Given the description of an element on the screen output the (x, y) to click on. 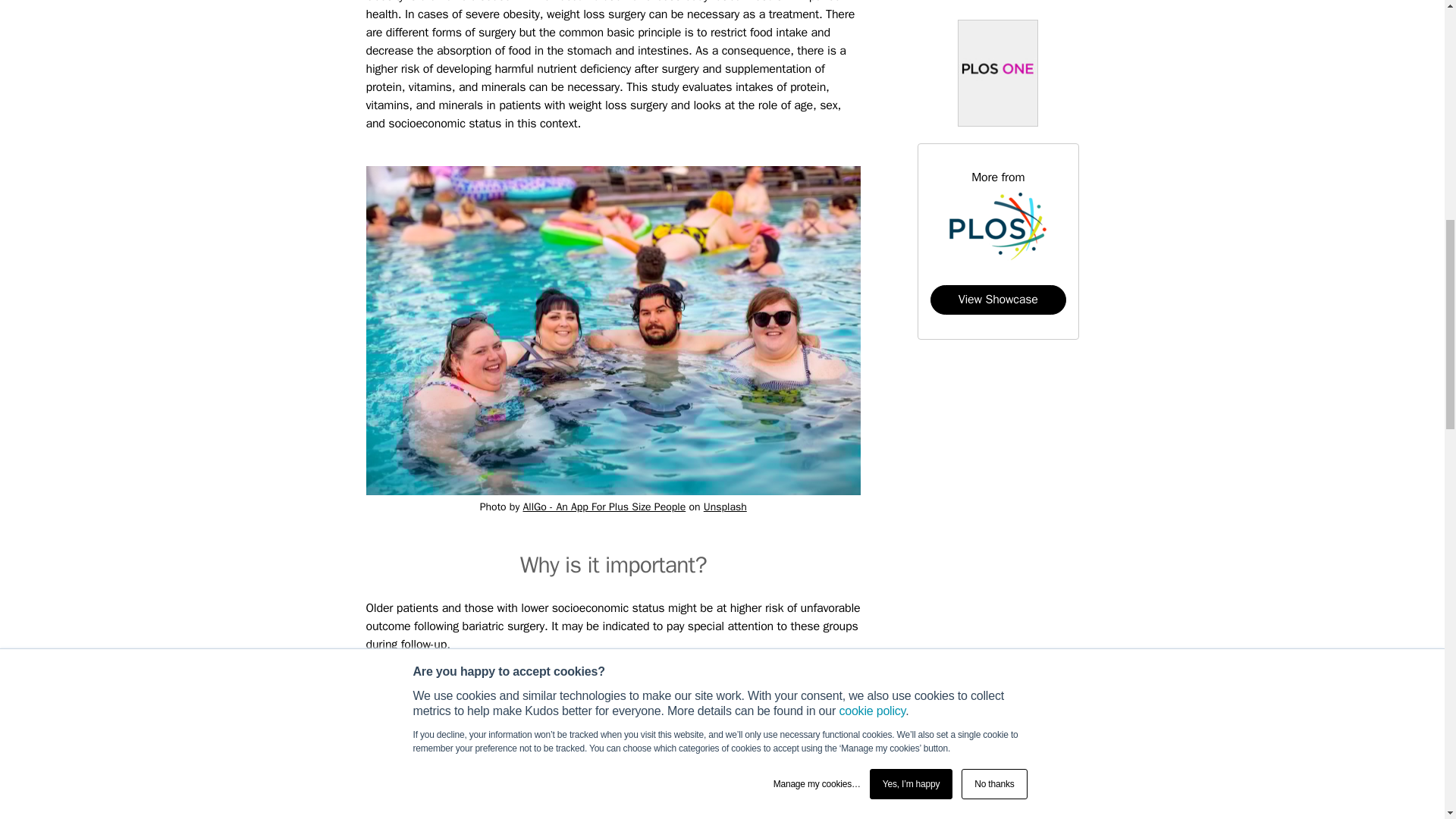
View Showcase (997, 299)
Unsplash (724, 506)
Read (774, 767)
AllGo - An App For Plus Size People (603, 506)
